Given the description of an element on the screen output the (x, y) to click on. 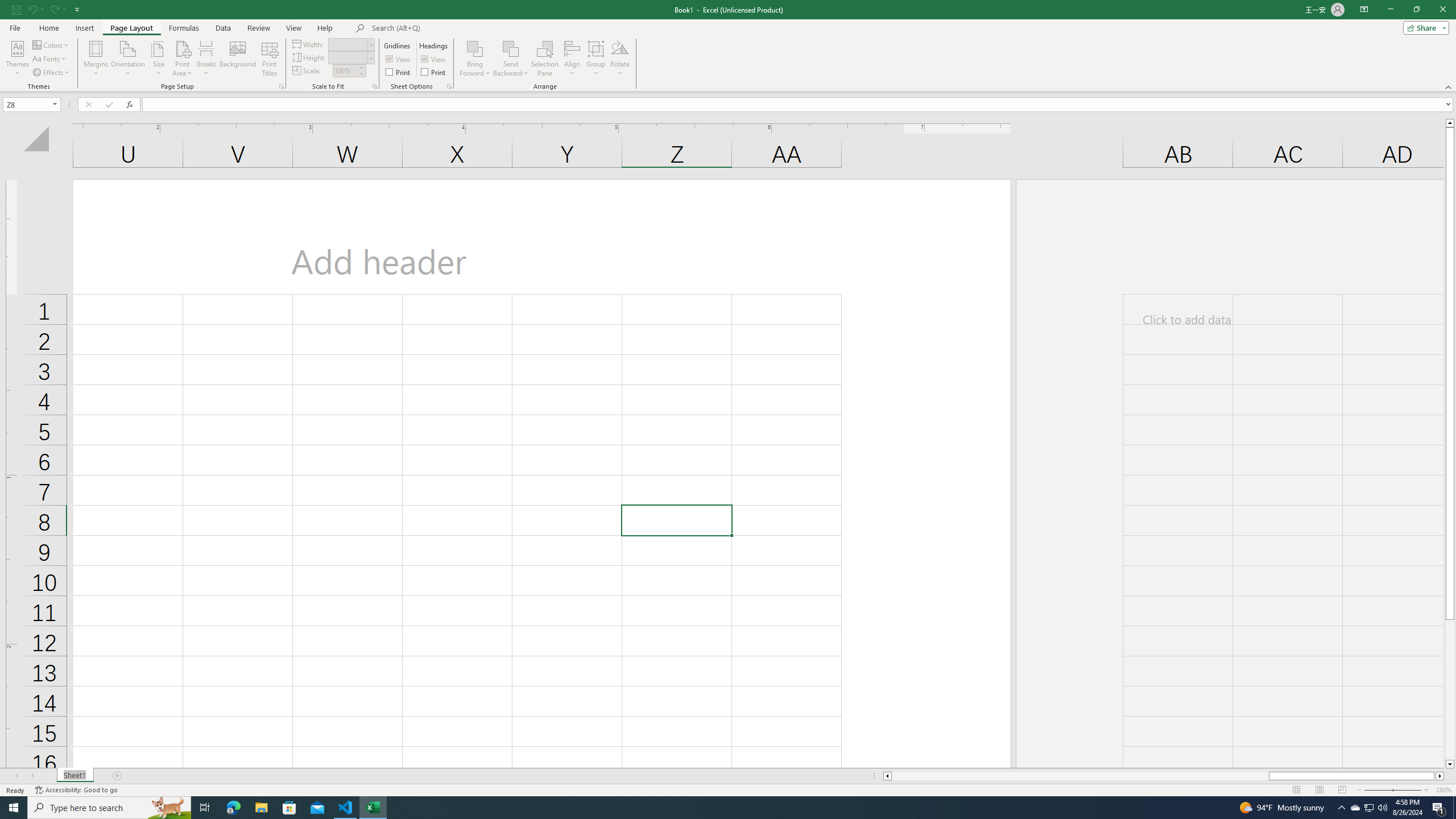
Normal (1296, 790)
Save (16, 9)
Help (325, 28)
Less (360, 73)
Scroll Right (32, 775)
Width (347, 44)
Scale (344, 70)
Breaks (206, 58)
Page down (1449, 689)
Page Setup (374, 85)
Line down (1449, 764)
Zoom In (1426, 790)
Sheet1 (74, 775)
Page Layout (131, 28)
